Given the description of an element on the screen output the (x, y) to click on. 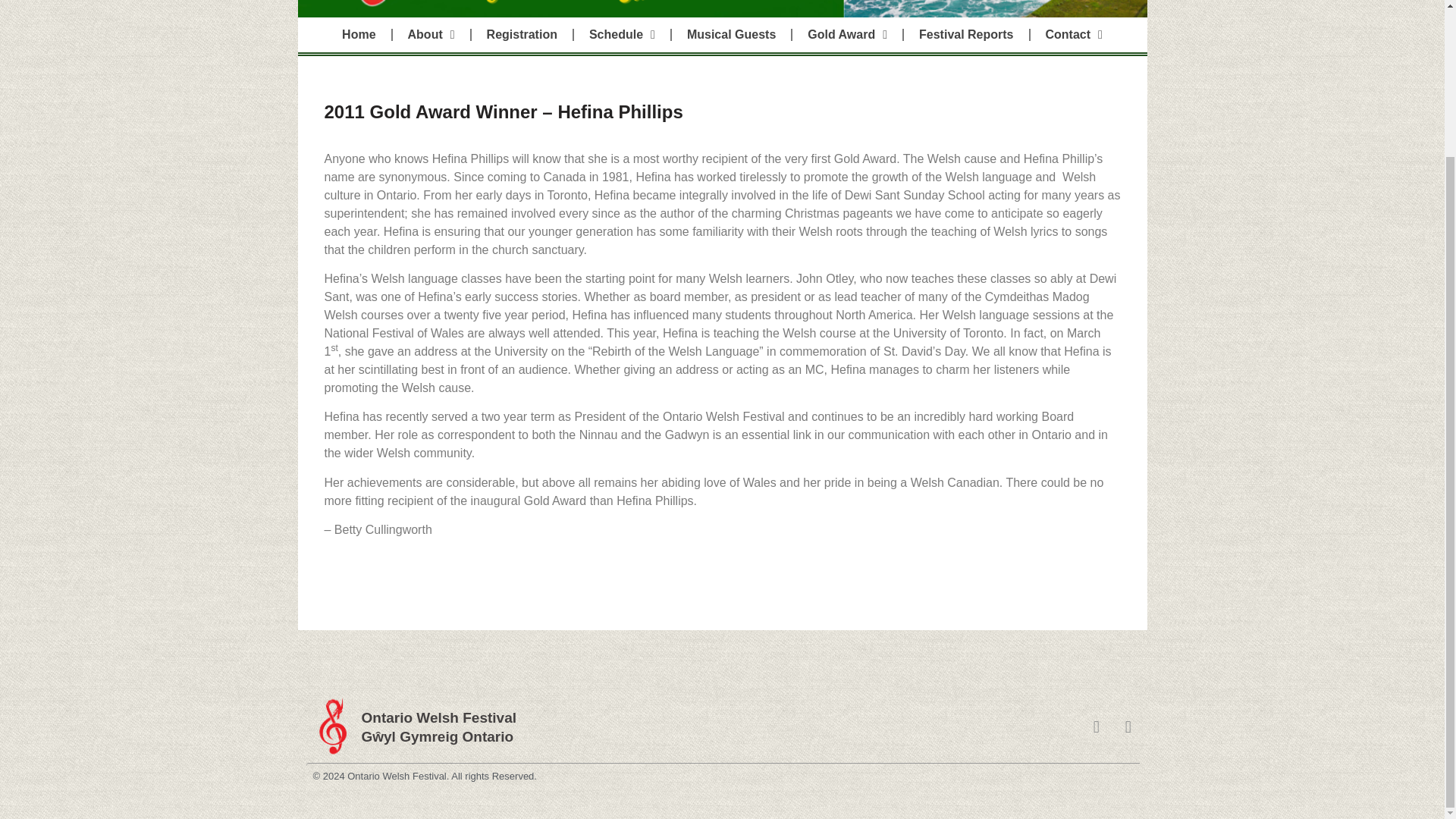
About Us (431, 34)
Contact (1074, 34)
Registration (521, 34)
Festival Reports (965, 34)
About (431, 34)
Gold Award (847, 34)
Schedule (621, 34)
Musical Guests (730, 34)
Home (358, 34)
